Given the description of an element on the screen output the (x, y) to click on. 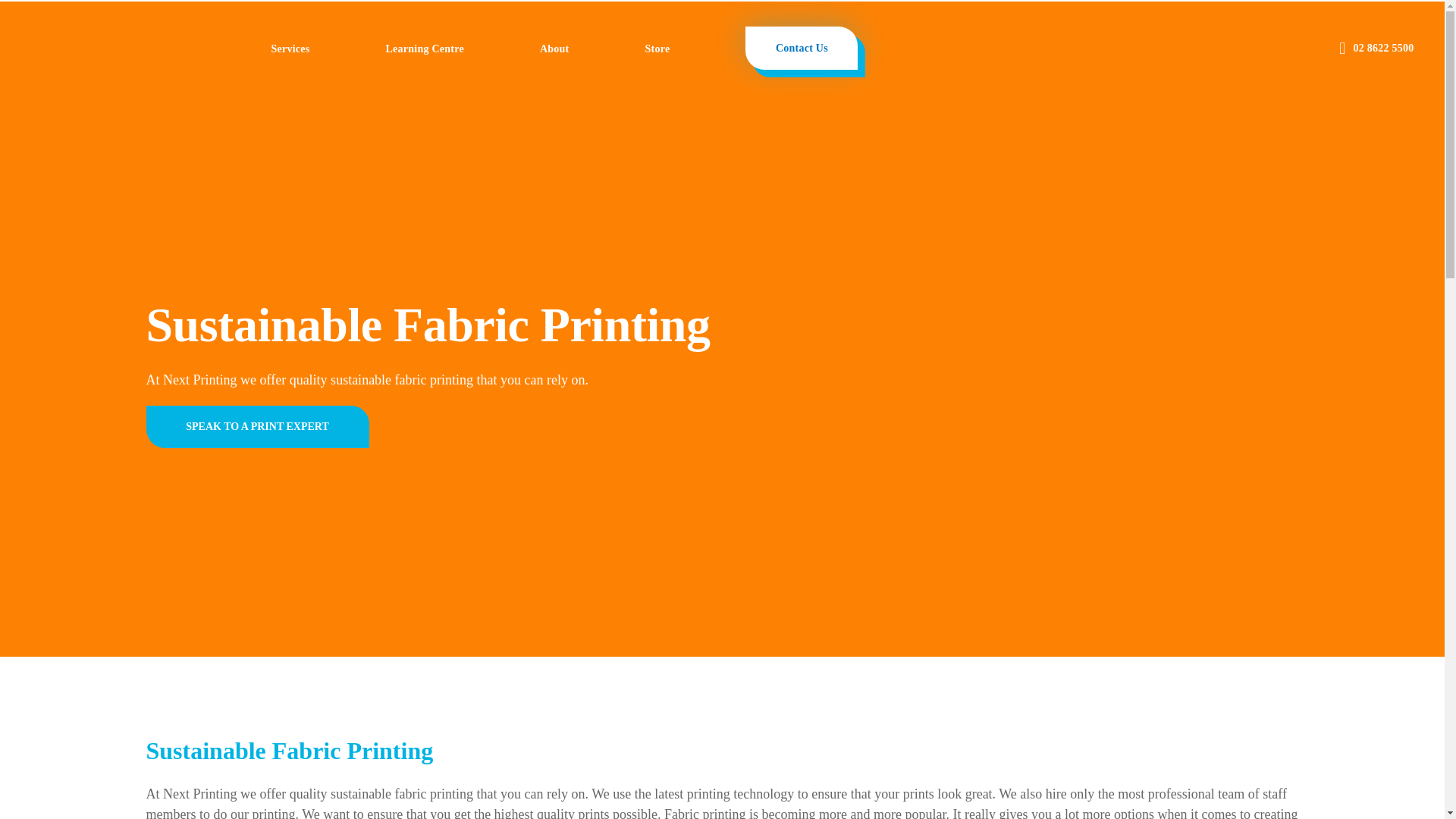
Next Printing Australia (170, 44)
SPEAK TO A PRINT EXPERT (256, 426)
Services (290, 49)
02 8622 5500 (1375, 47)
Learning Centre (424, 49)
Store (657, 49)
About (554, 49)
Services (290, 49)
Blog (424, 49)
02 8622 5500 (1375, 47)
